Given the description of an element on the screen output the (x, y) to click on. 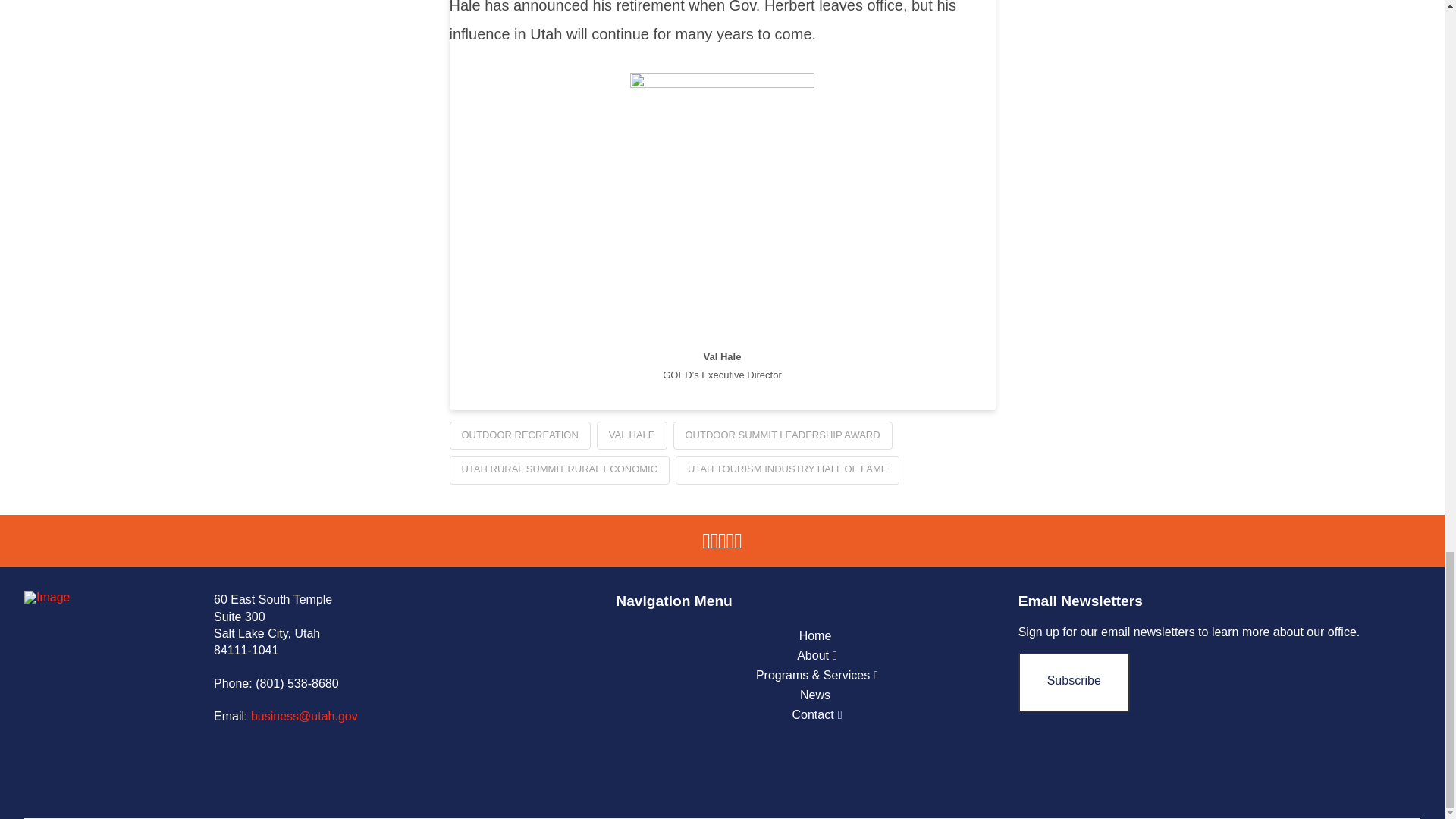
OUTDOOR SUMMIT LEADERSHIP AWARD (782, 435)
About (816, 655)
VAL HALE (631, 435)
UTAH TOURISM INDUSTRY HALL OF FAME (787, 469)
Home (816, 636)
UTAH RURAL SUMMIT RURAL ECONOMIC (558, 469)
OUTDOOR RECREATION (518, 435)
